Given the description of an element on the screen output the (x, y) to click on. 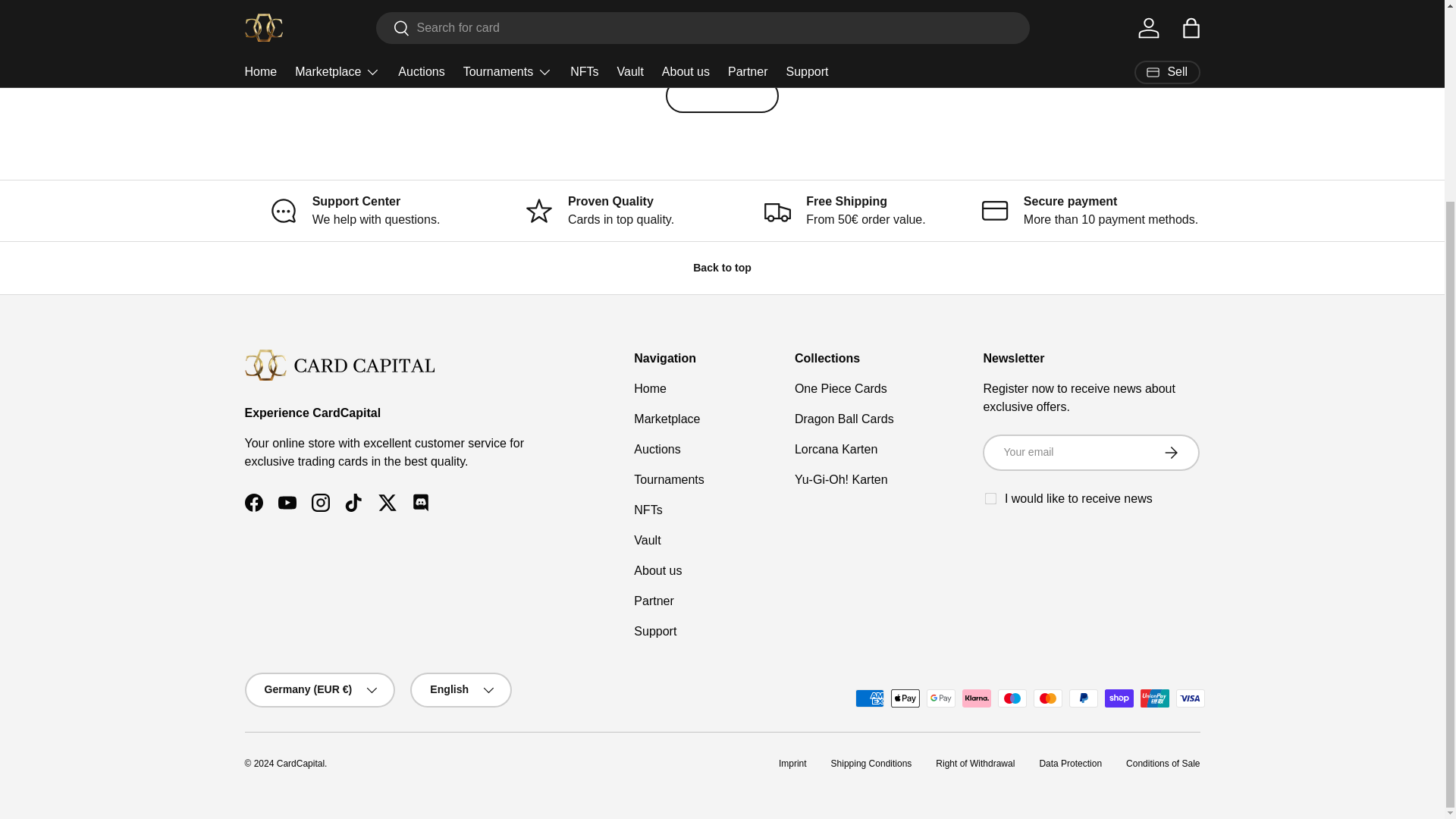
CardCapital on Twitter (386, 502)
CardCapital on Instagram (319, 502)
on (989, 497)
CardCapital on YouTube (285, 502)
CardCapital on Discord (419, 502)
CardCapital on Facebook (252, 502)
CardCapital on TikTok (352, 502)
